Given the description of an element on the screen output the (x, y) to click on. 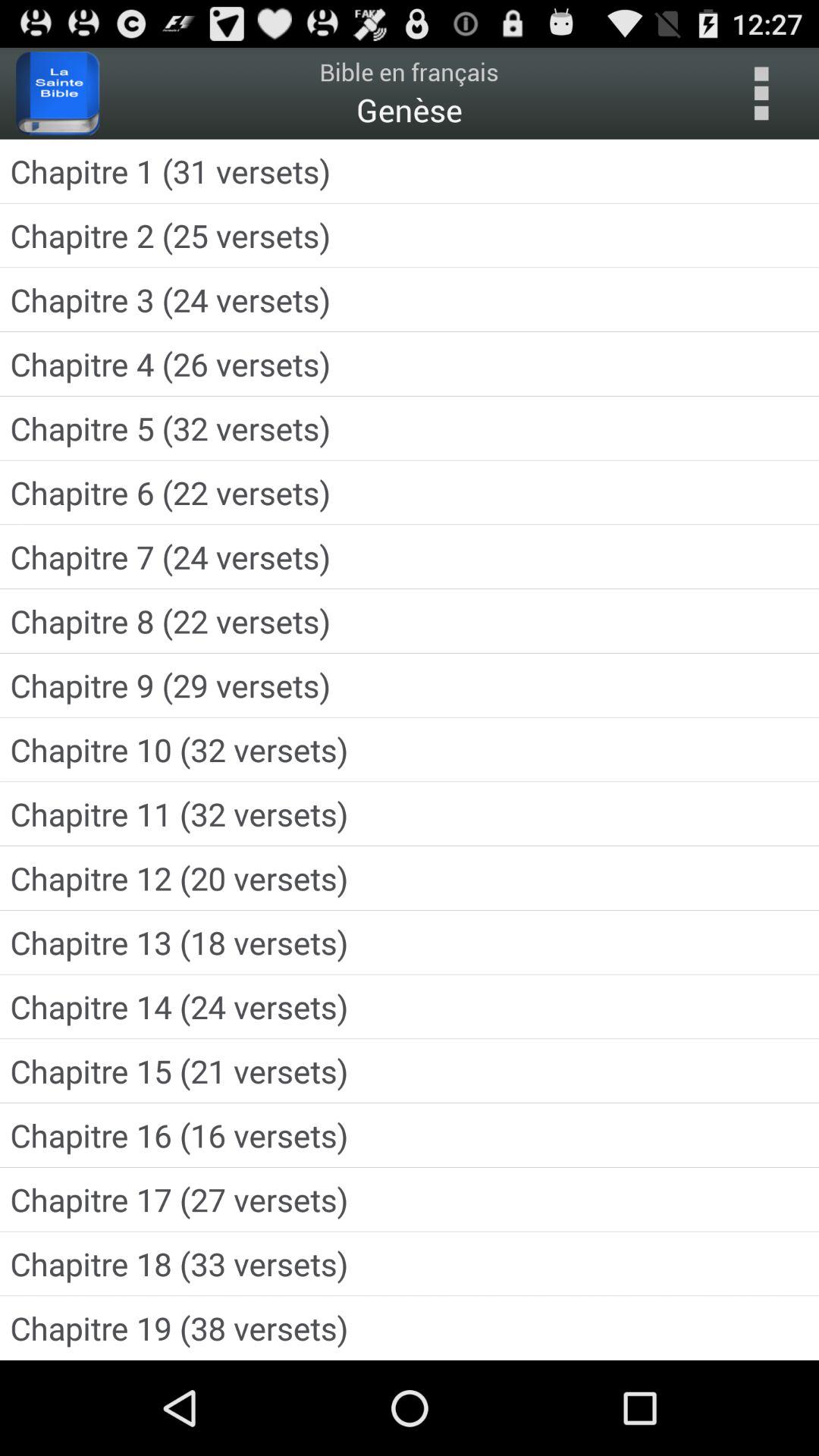
turn off the chapitre 2 25 app (409, 235)
